Given the description of an element on the screen output the (x, y) to click on. 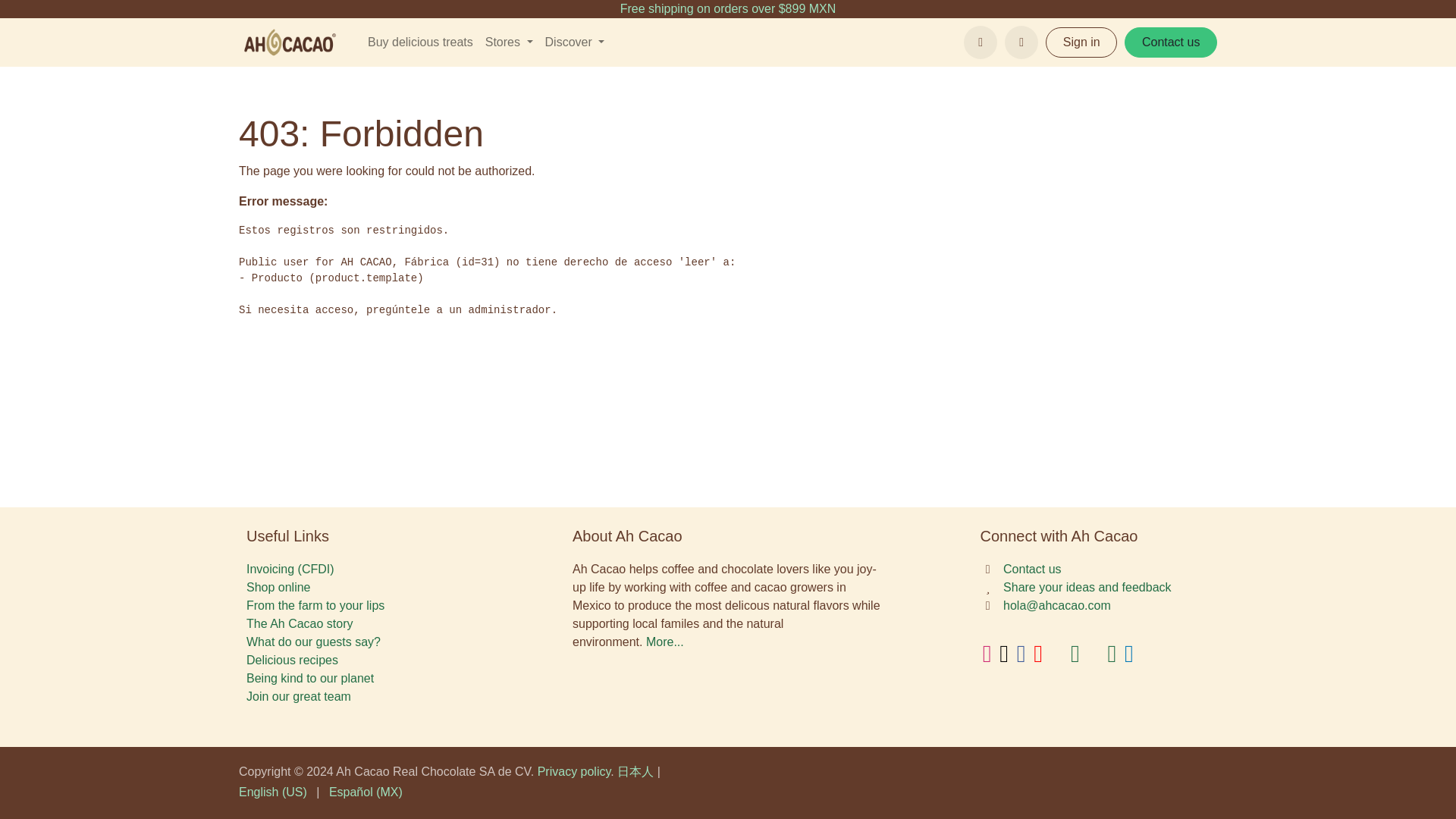
Search (1021, 41)
Stores (508, 42)
Discover (574, 42)
ahcacao.com (288, 41)
Contact us (1170, 42)
Sign in (1080, 42)
Buy delicious treats (420, 42)
